Given the description of an element on the screen output the (x, y) to click on. 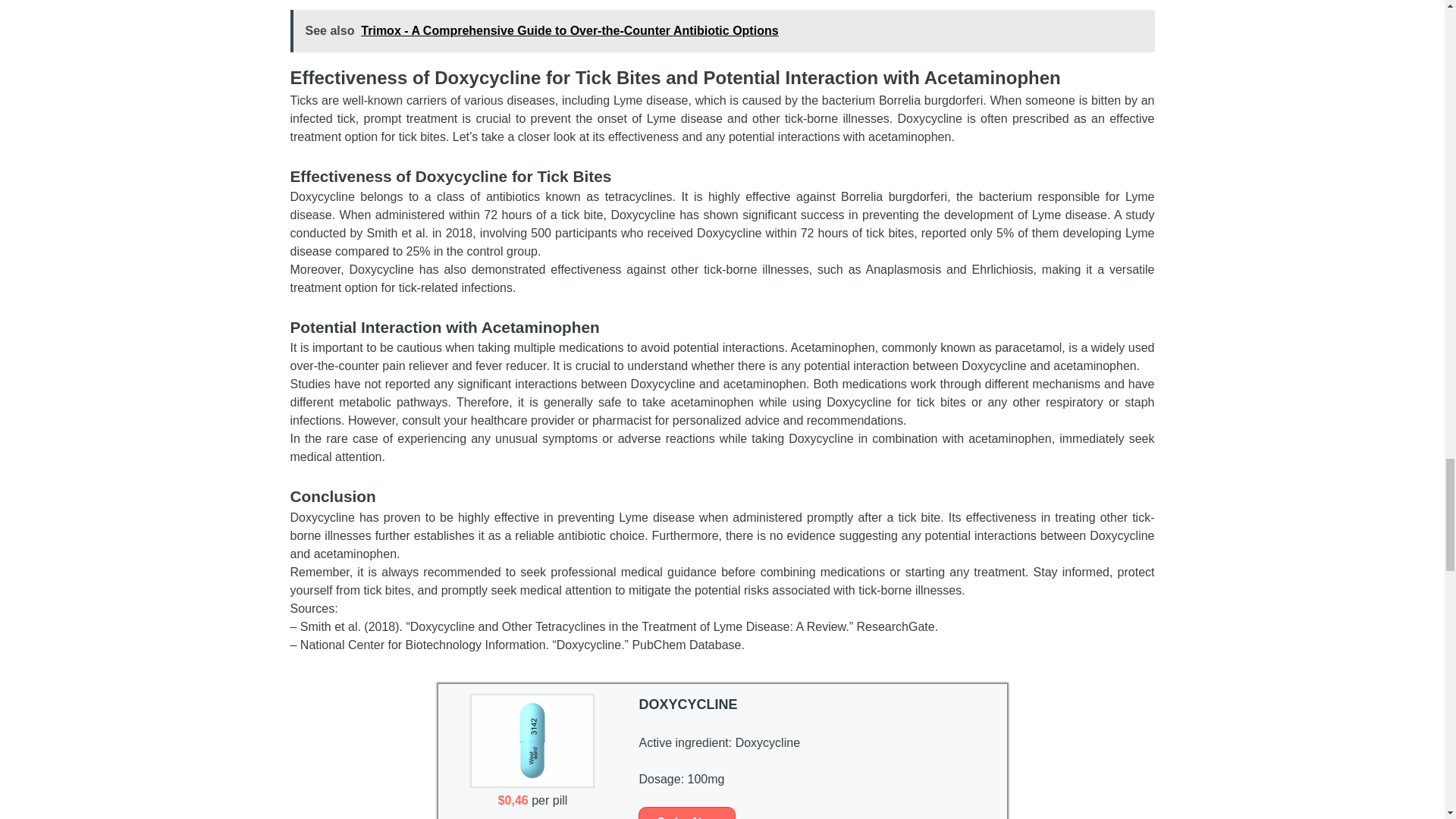
Order Now (687, 812)
